Given the description of an element on the screen output the (x, y) to click on. 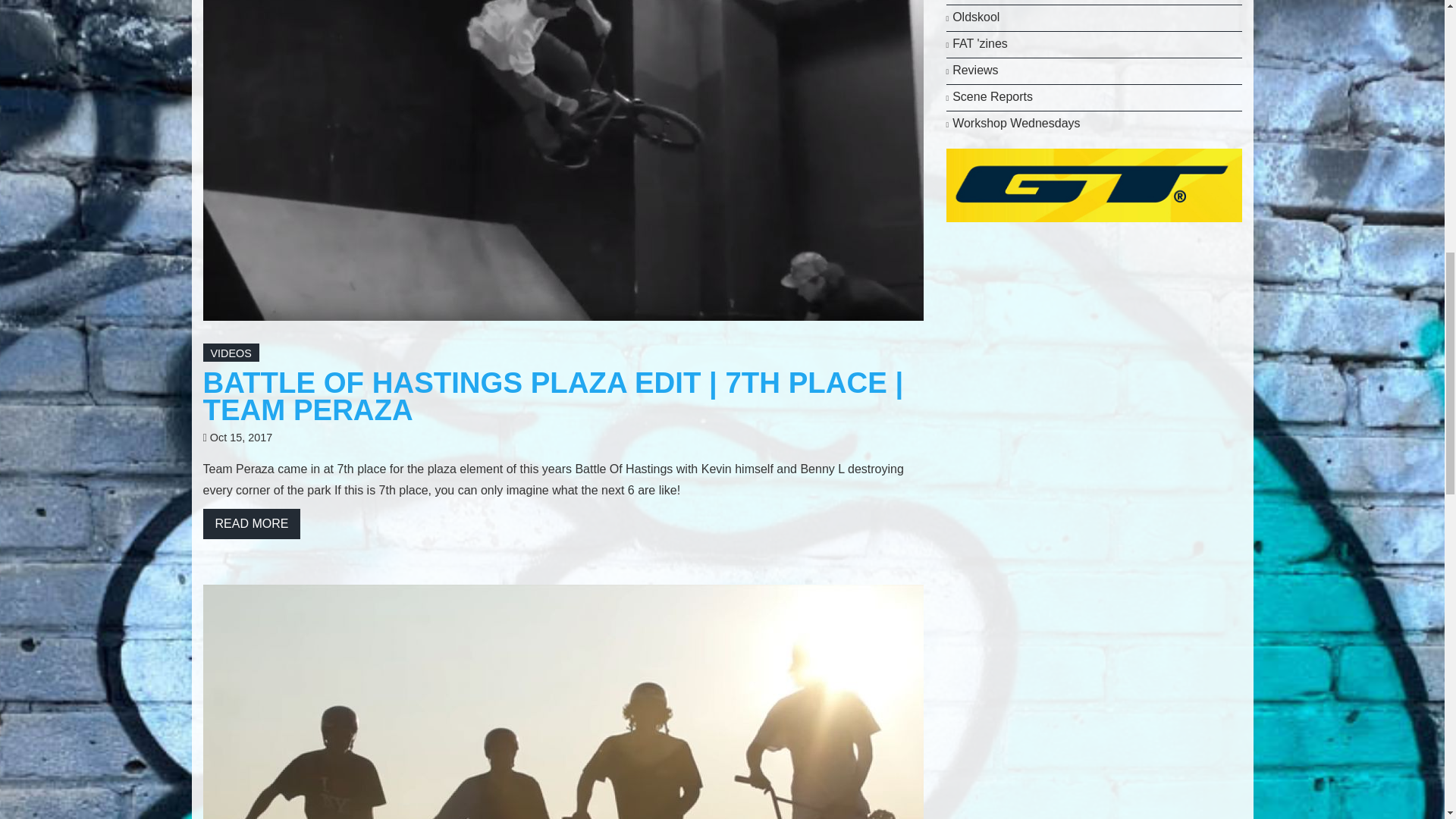
GT BMX (1093, 184)
